Given the description of an element on the screen output the (x, y) to click on. 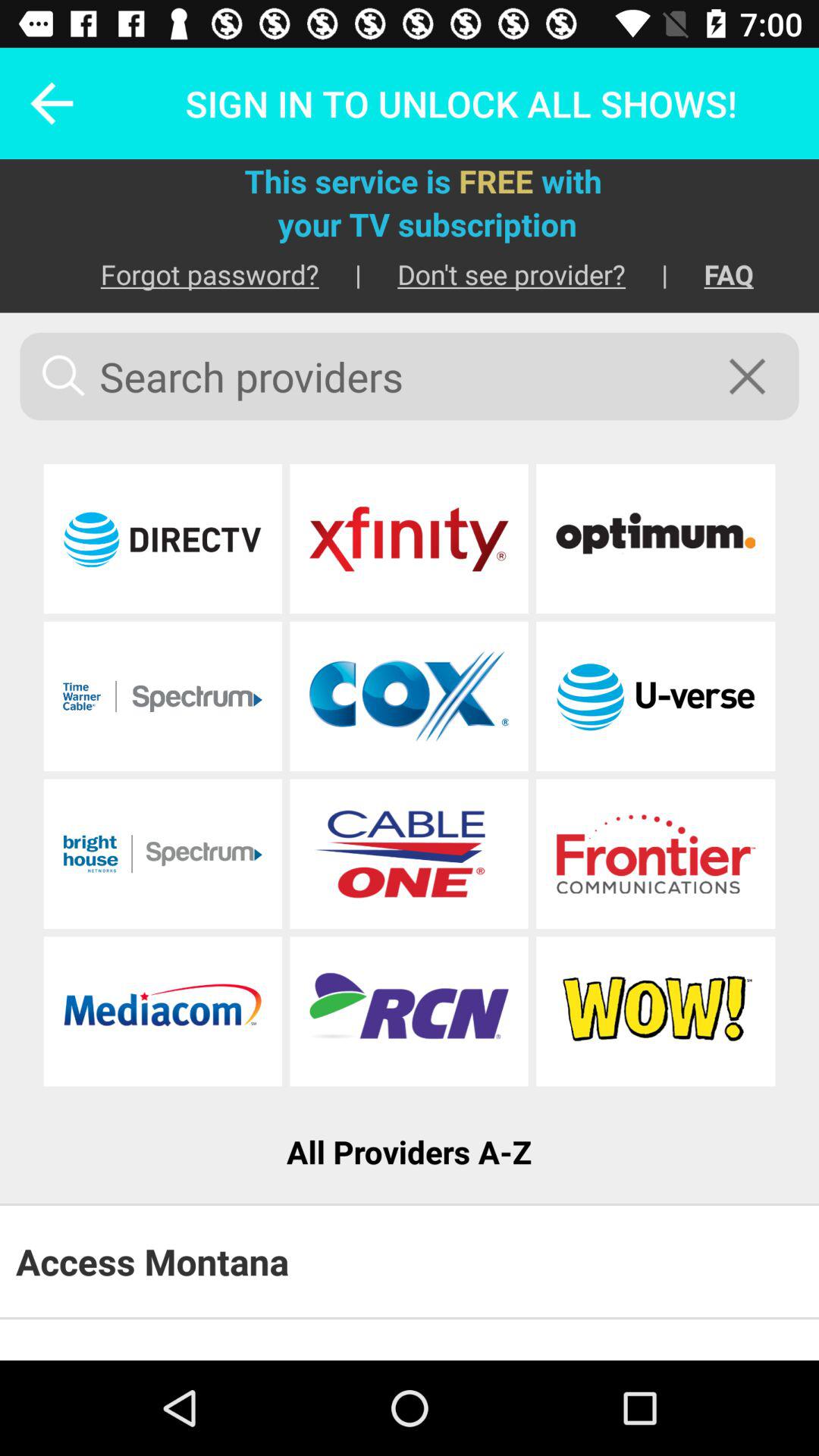
turn off icon next to the | item (493, 273)
